Given the description of an element on the screen output the (x, y) to click on. 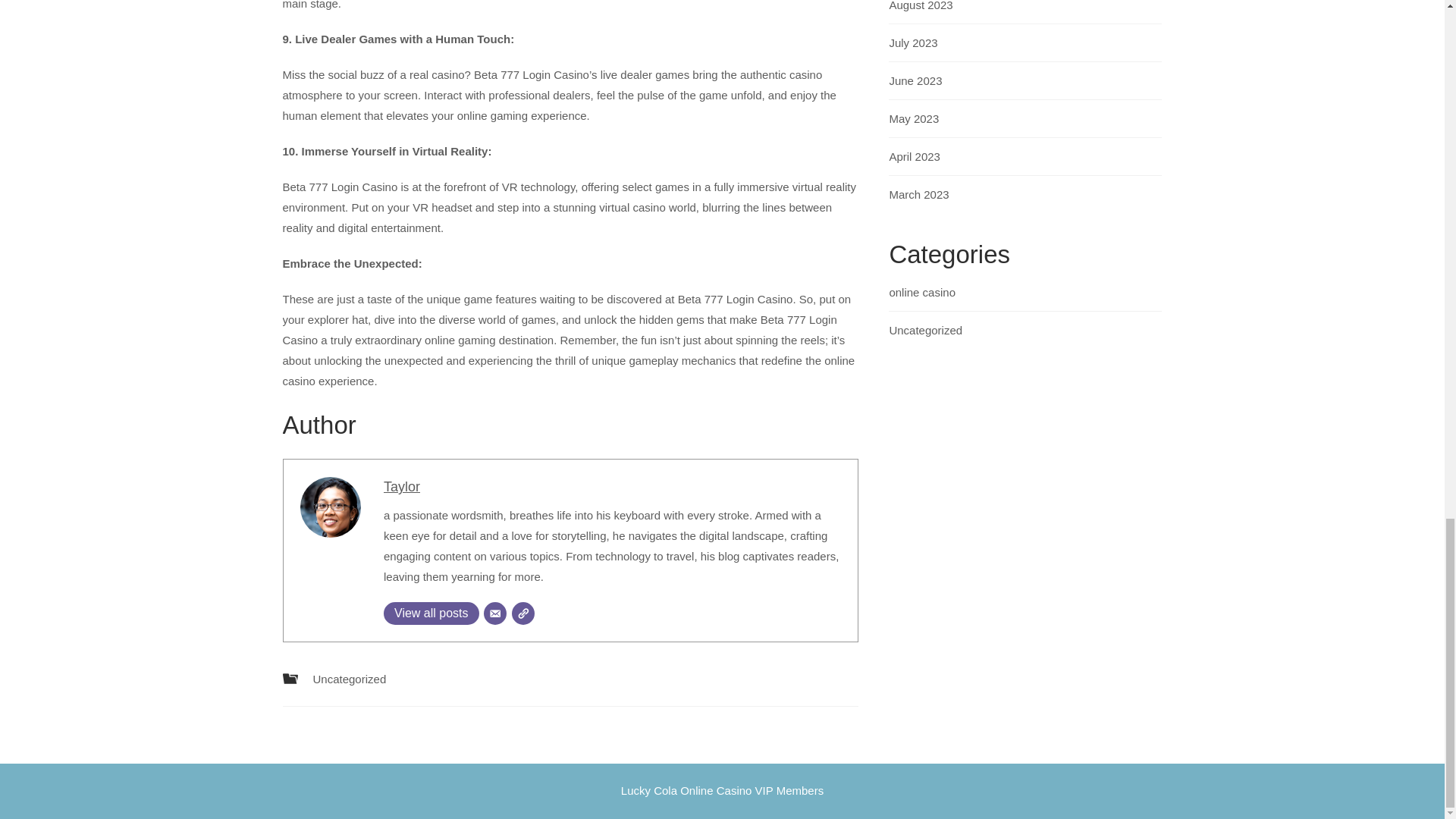
Uncategorized (349, 678)
Taylor (402, 486)
View all posts (431, 612)
Taylor (402, 486)
online casino (921, 291)
June 2023 (915, 80)
March 2023 (918, 194)
April 2023 (914, 155)
August 2023 (920, 5)
July 2023 (912, 42)
May 2023 (913, 118)
View all posts (431, 612)
